Given the description of an element on the screen output the (x, y) to click on. 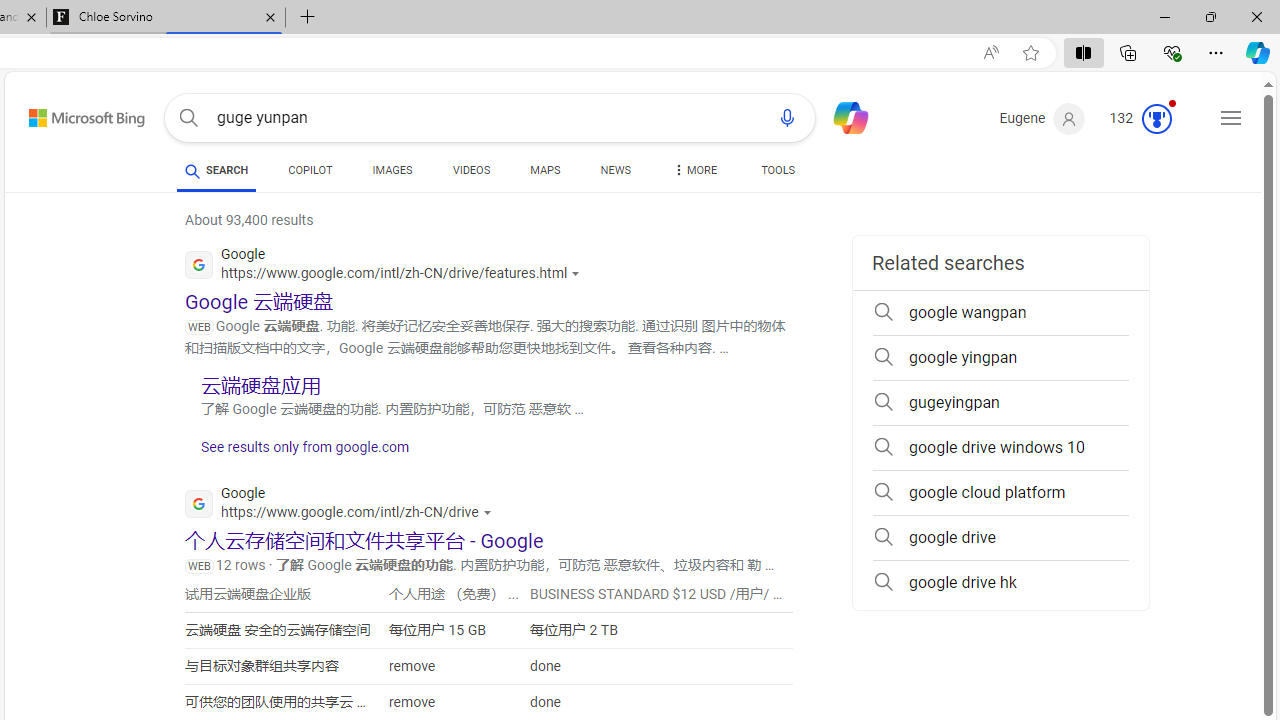
IMAGES (392, 170)
Class: outer-circle-animation (1156, 118)
TOOLS (777, 170)
MAPS (545, 173)
google drive hk (1000, 582)
COPILOT (310, 170)
google drive windows 10 (1000, 448)
Microsoft Rewards 123 (1142, 119)
Search button (188, 117)
Chat (842, 116)
Search using voice (787, 117)
